Given the description of an element on the screen output the (x, y) to click on. 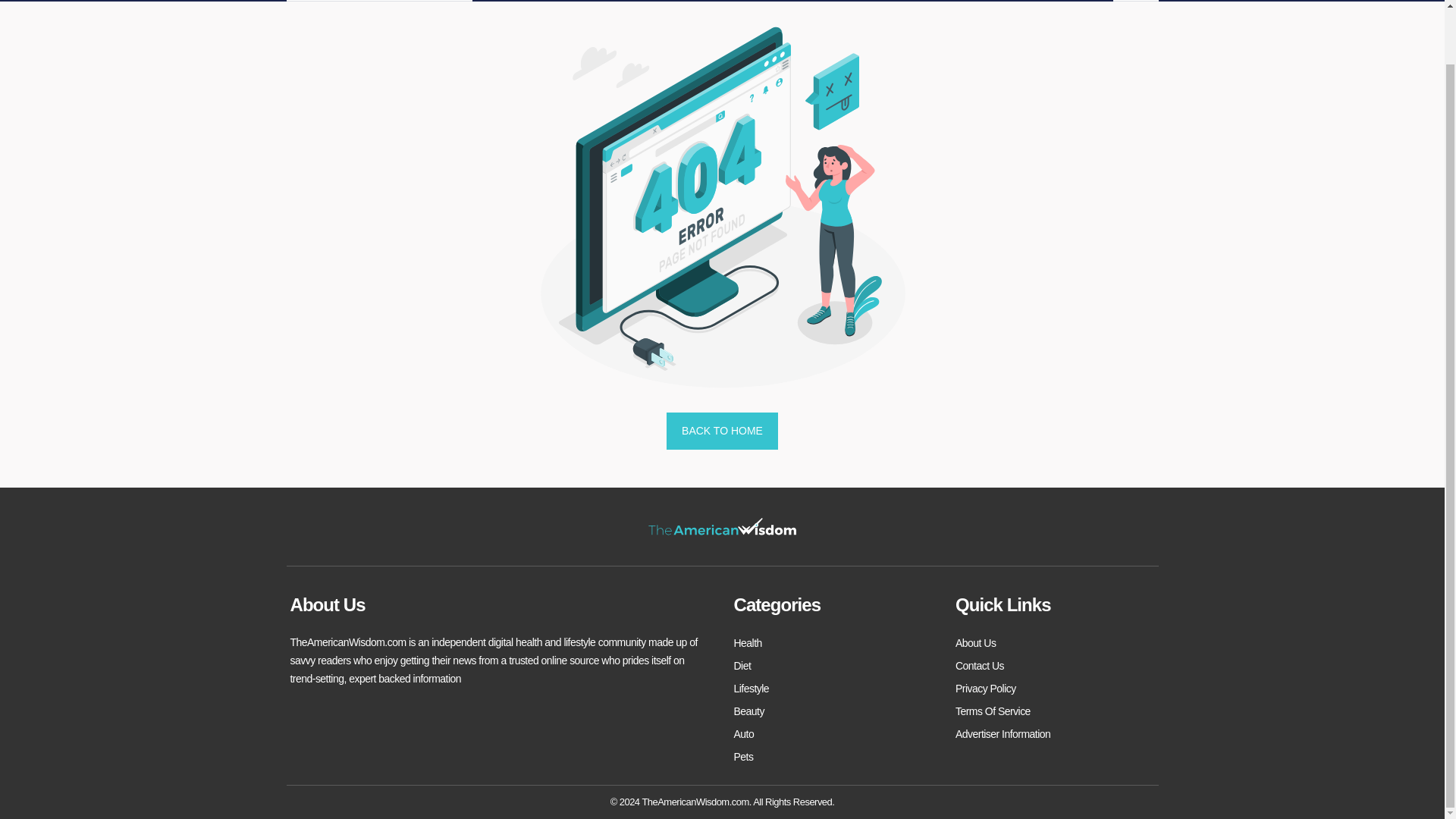
About Us (975, 642)
Terms Of Service (992, 710)
Diet (742, 665)
Auto (743, 733)
Contact Us (979, 665)
BACK TO HOME (721, 431)
Advertiser Information (1002, 733)
Lifestyle (751, 688)
Pets (743, 756)
Privacy Policy (985, 688)
